Given the description of an element on the screen output the (x, y) to click on. 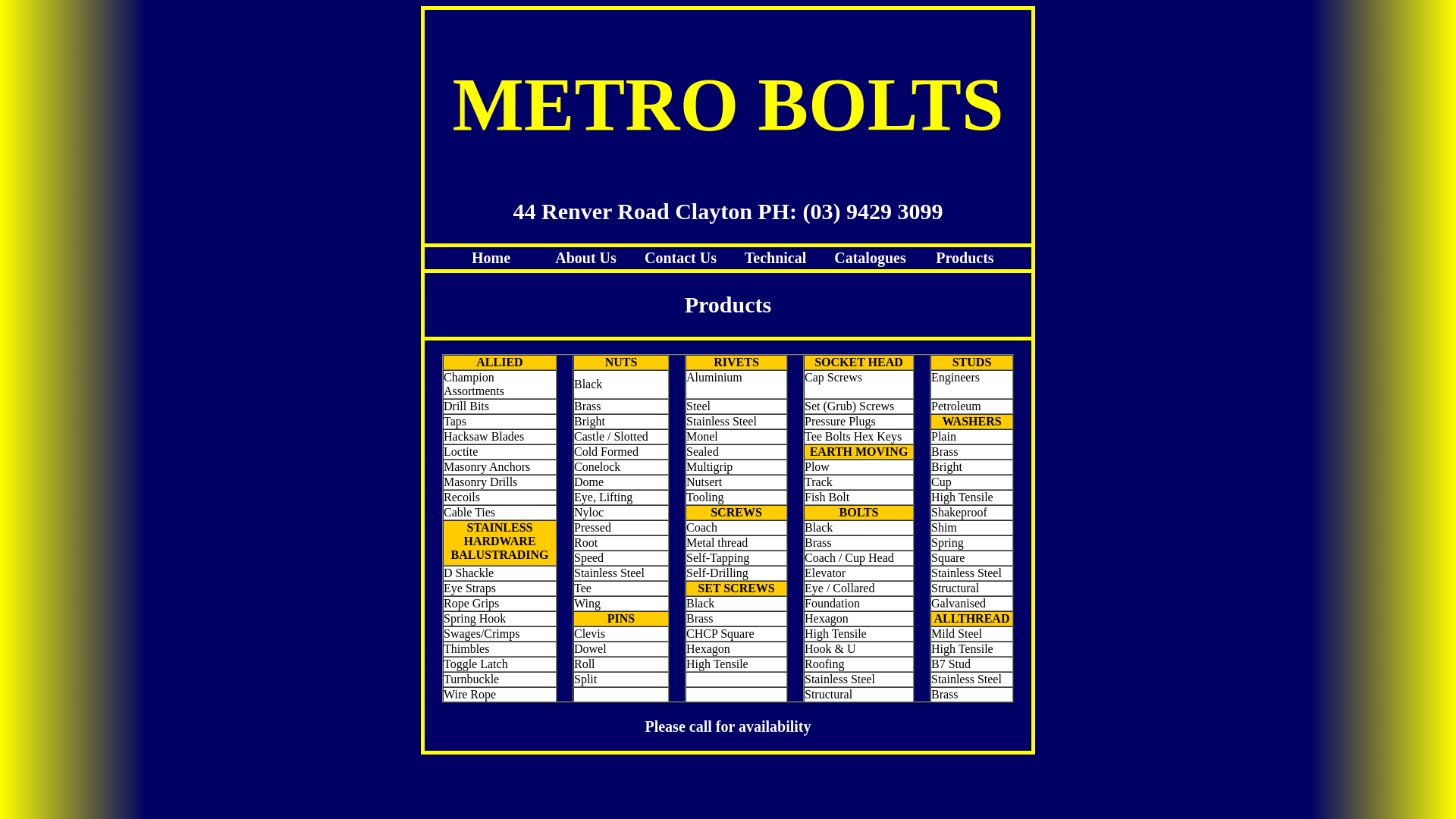
Home Element type: text (490, 257)
Catalogues Element type: text (869, 257)
Products Element type: text (964, 257)
About Us Element type: text (585, 257)
Technical Element type: text (775, 257)
Contact Us Element type: text (680, 257)
